Given the description of an element on the screen output the (x, y) to click on. 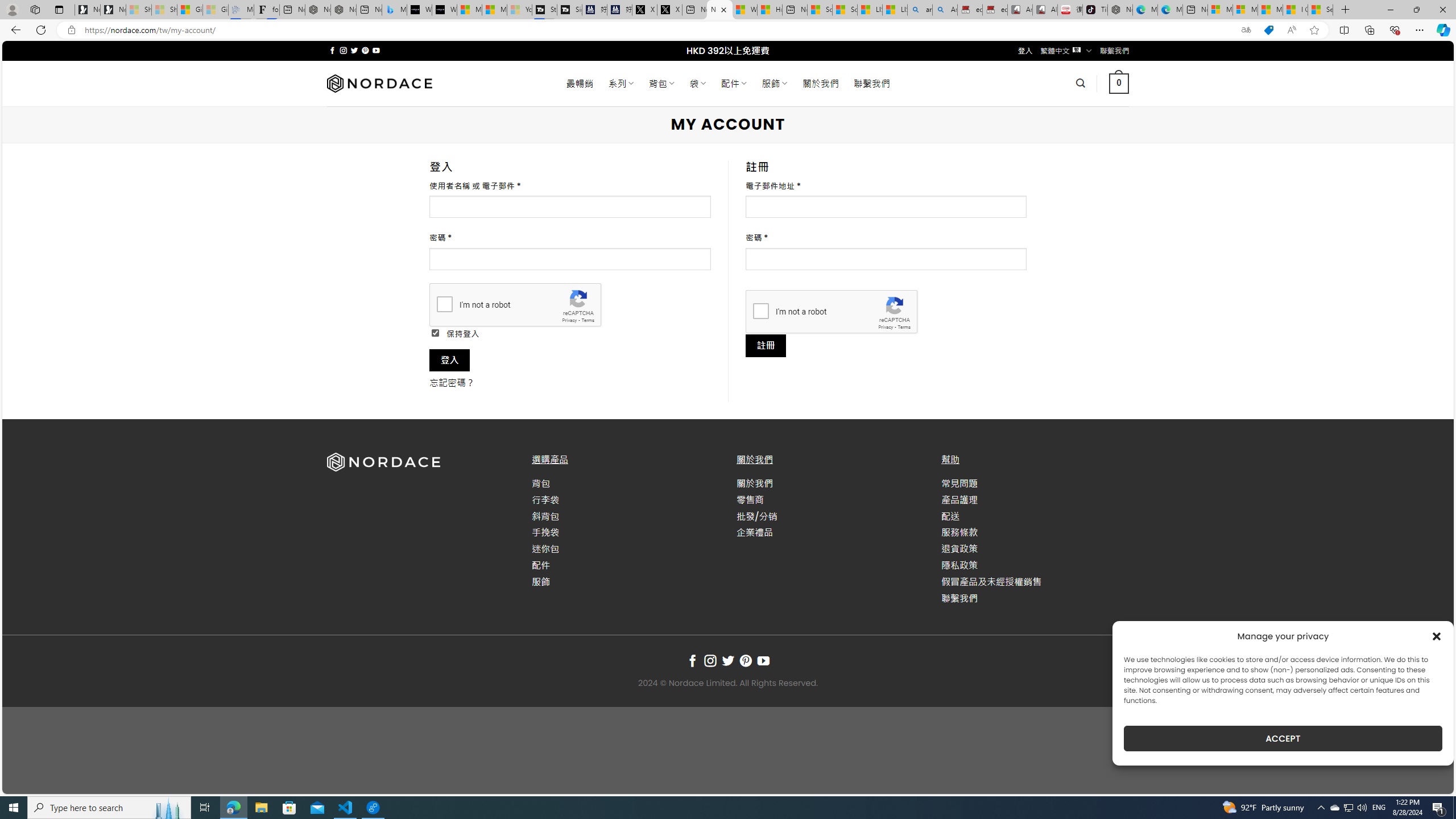
All Cubot phones (1044, 9)
Terms (903, 326)
Class: cmplz-close (1436, 636)
 0  (1118, 83)
ACCEPT (1283, 738)
